Given the description of an element on the screen output the (x, y) to click on. 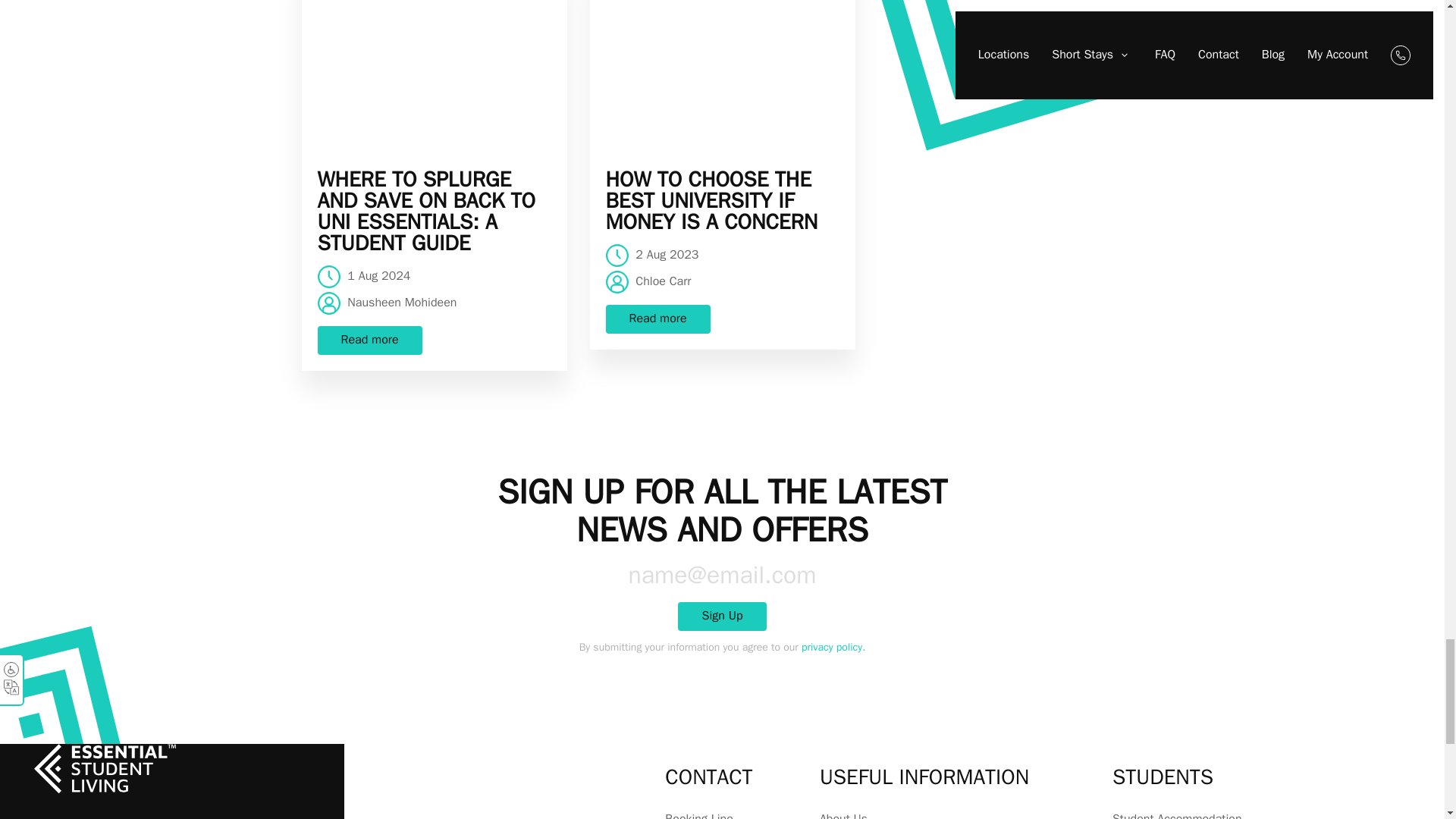
Read more (369, 339)
